Given the description of an element on the screen output the (x, y) to click on. 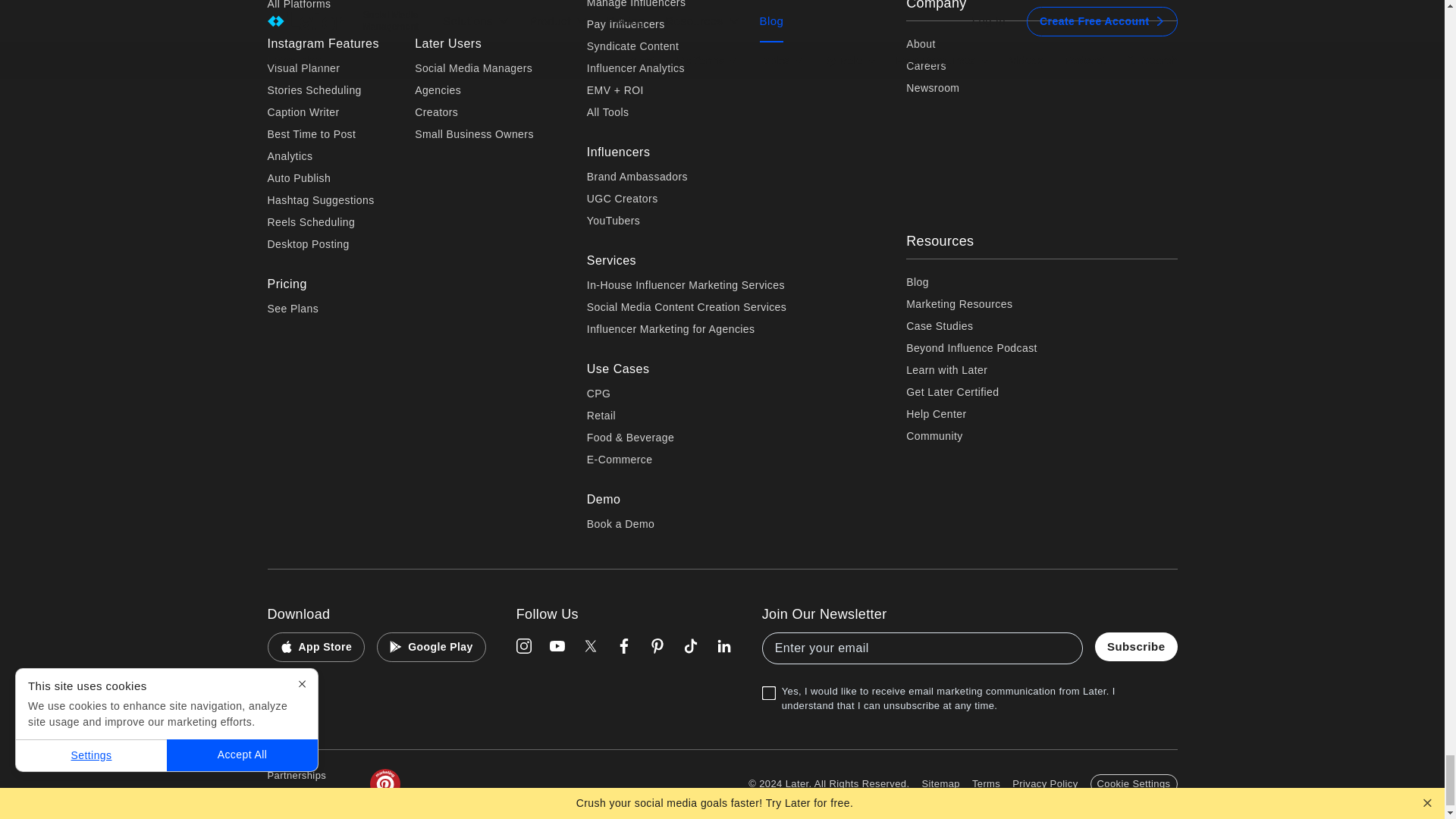
on (766, 678)
